Given the description of an element on the screen output the (x, y) to click on. 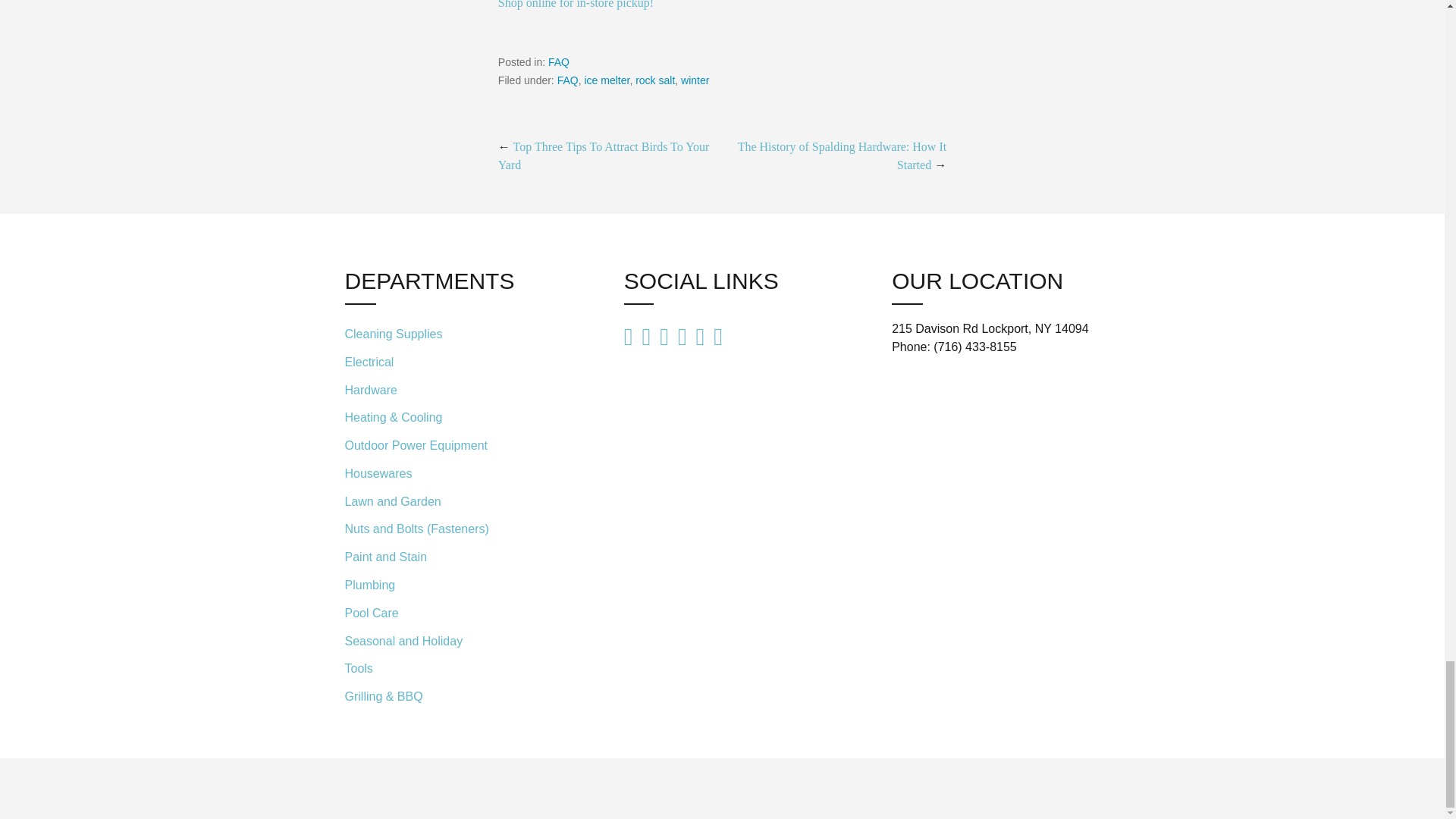
Visit Spalding Ace Hardware on YouTube (628, 337)
Visit Spalding Ace Hardware on Twitter (699, 337)
Visit Spalding Ace Hardware on LinkedIn (663, 337)
Shop online for in-store pickup! (575, 4)
FAQ (567, 80)
FAQ (558, 61)
Visit Spalding Ace Hardware on Facebook (717, 335)
Visit Spalding Ace Hardware on Pinterest (646, 337)
